Given the description of an element on the screen output the (x, y) to click on. 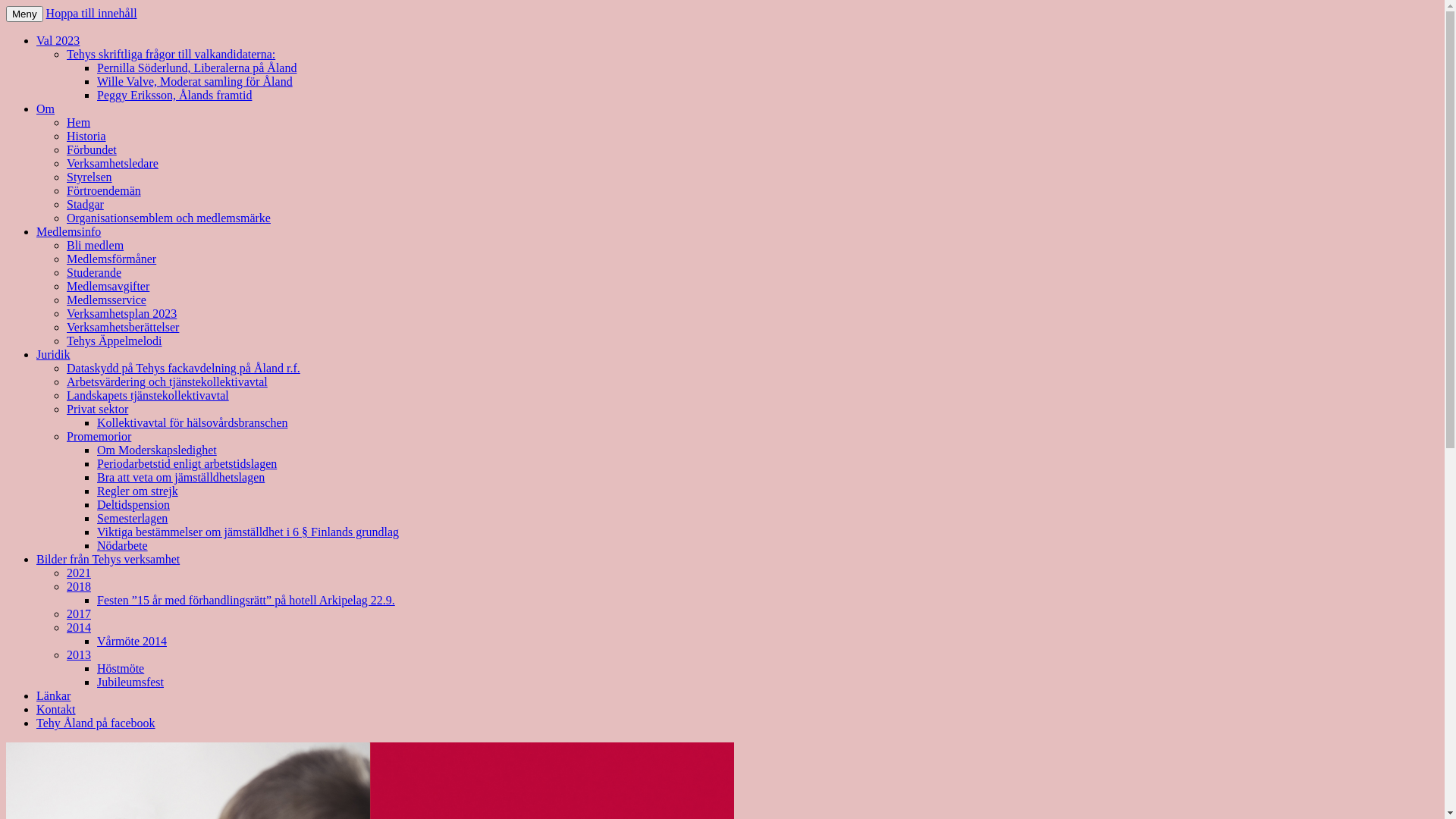
Hem Element type: text (78, 122)
2021 Element type: text (78, 572)
Studerande Element type: text (93, 272)
Jubileumsfest Element type: text (130, 681)
2014 Element type: text (78, 627)
Om Element type: text (45, 108)
Stadgar Element type: text (84, 203)
Semesterlagen Element type: text (132, 517)
Val 2023 Element type: text (57, 40)
Privat sektor Element type: text (97, 408)
Om Moderskapsledighet Element type: text (156, 449)
Kontakt Element type: text (55, 708)
Juridik Element type: text (52, 354)
Meny Element type: text (24, 13)
Bli medlem Element type: text (94, 244)
Medlemsavgifter Element type: text (107, 285)
2013 Element type: text (78, 654)
Periodarbetstid enligt arbetstidslagen Element type: text (186, 463)
Promemorior Element type: text (98, 435)
Verksamhetsplan 2023 Element type: text (121, 313)
Medlemsinfo Element type: text (68, 231)
2017 Element type: text (78, 613)
Verksamhetsledare Element type: text (112, 162)
Styrelsen Element type: text (89, 176)
Historia Element type: text (86, 135)
Deltidspension Element type: text (133, 504)
Regler om strejk Element type: text (137, 490)
2018 Element type: text (78, 586)
Medlemsservice Element type: text (106, 299)
